Given the description of an element on the screen output the (x, y) to click on. 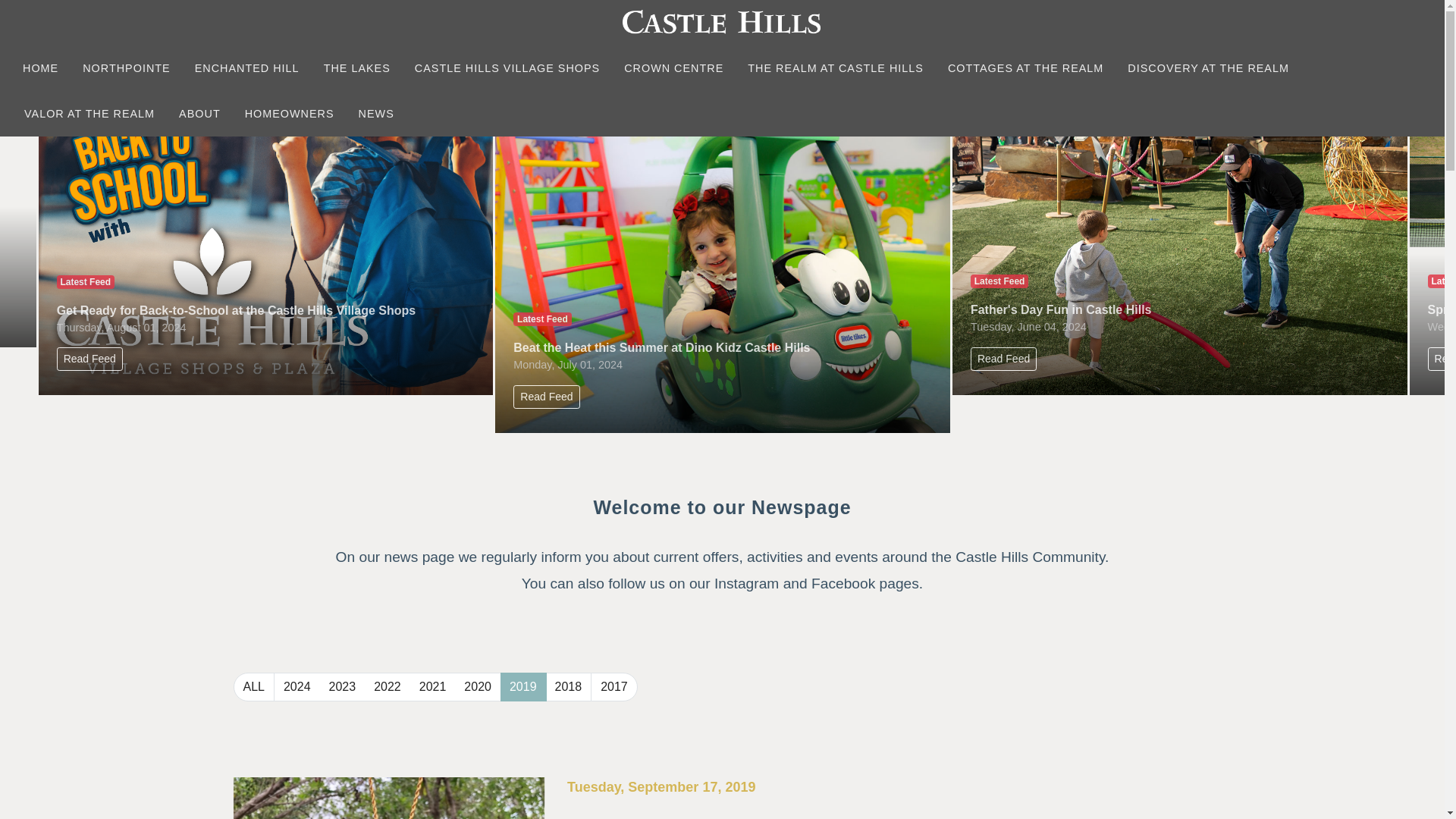
NEWS (376, 113)
Read Feed (89, 359)
THE REALM AT CASTLE HILLS (835, 67)
THE LAKES (357, 67)
HOMEOWNERS (289, 113)
CROWN CENTRE (673, 67)
CASTLE HILLS VILLAGE SHOPS (507, 67)
ABOUT (199, 113)
COTTAGES AT THE REALM (1025, 67)
VALOR AT THE REALM (89, 113)
